Given the description of an element on the screen output the (x, y) to click on. 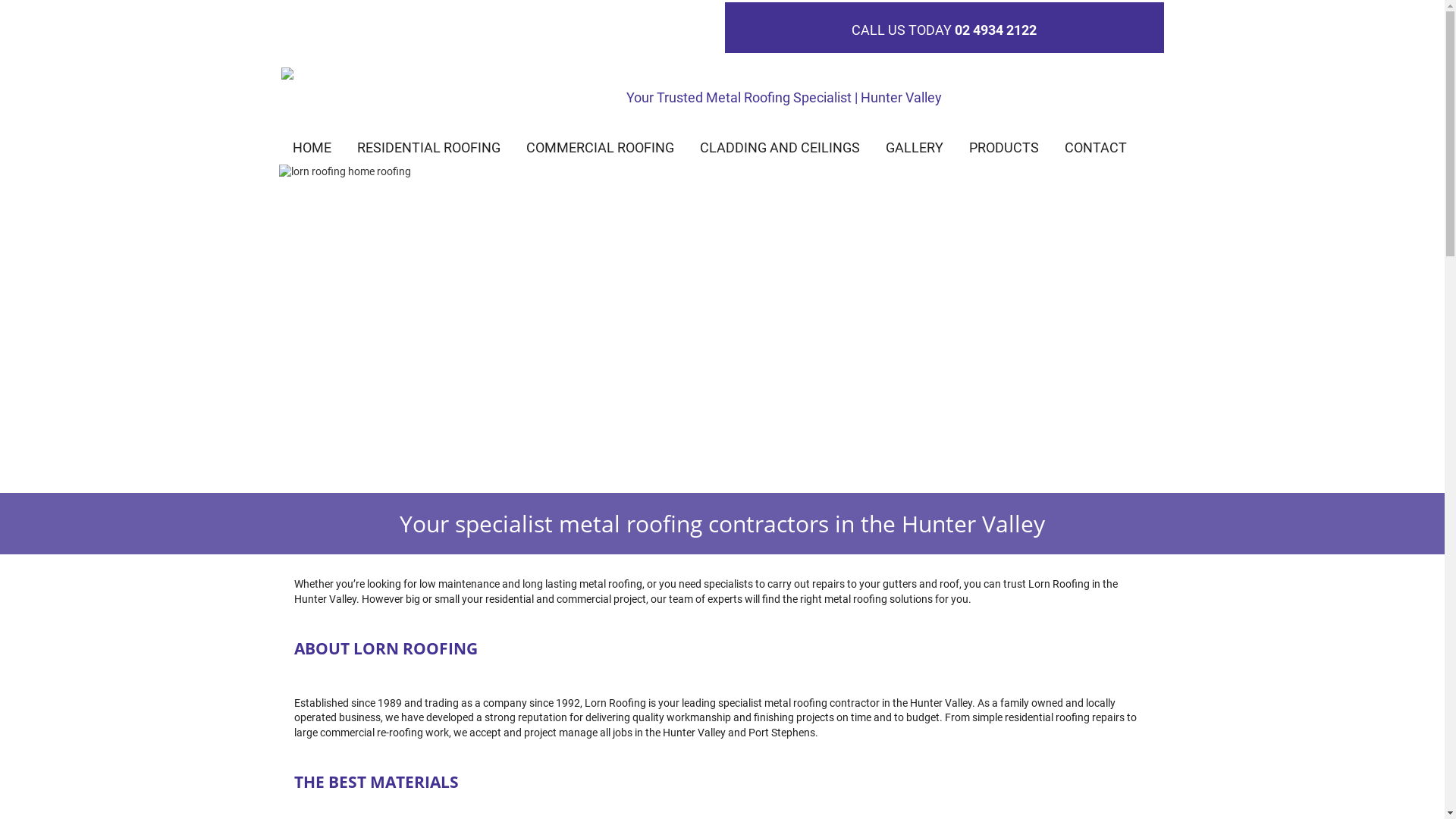
COMMERCIAL ROOFING Element type: text (600, 147)
RESIDENTIAL ROOFING Element type: text (427, 147)
02 4934 2122 Element type: text (995, 29)
CLADDING AND CEILINGS Element type: text (779, 147)
PRODUCTS Element type: text (1003, 147)
HOME Element type: text (311, 147)
lorn roofing logo roofing Element type: hover (389, 74)
lorn roofing home roofing Element type: hover (722, 328)
GALLERY Element type: text (914, 147)
CONTACT Element type: text (1095, 147)
